Given the description of an element on the screen output the (x, y) to click on. 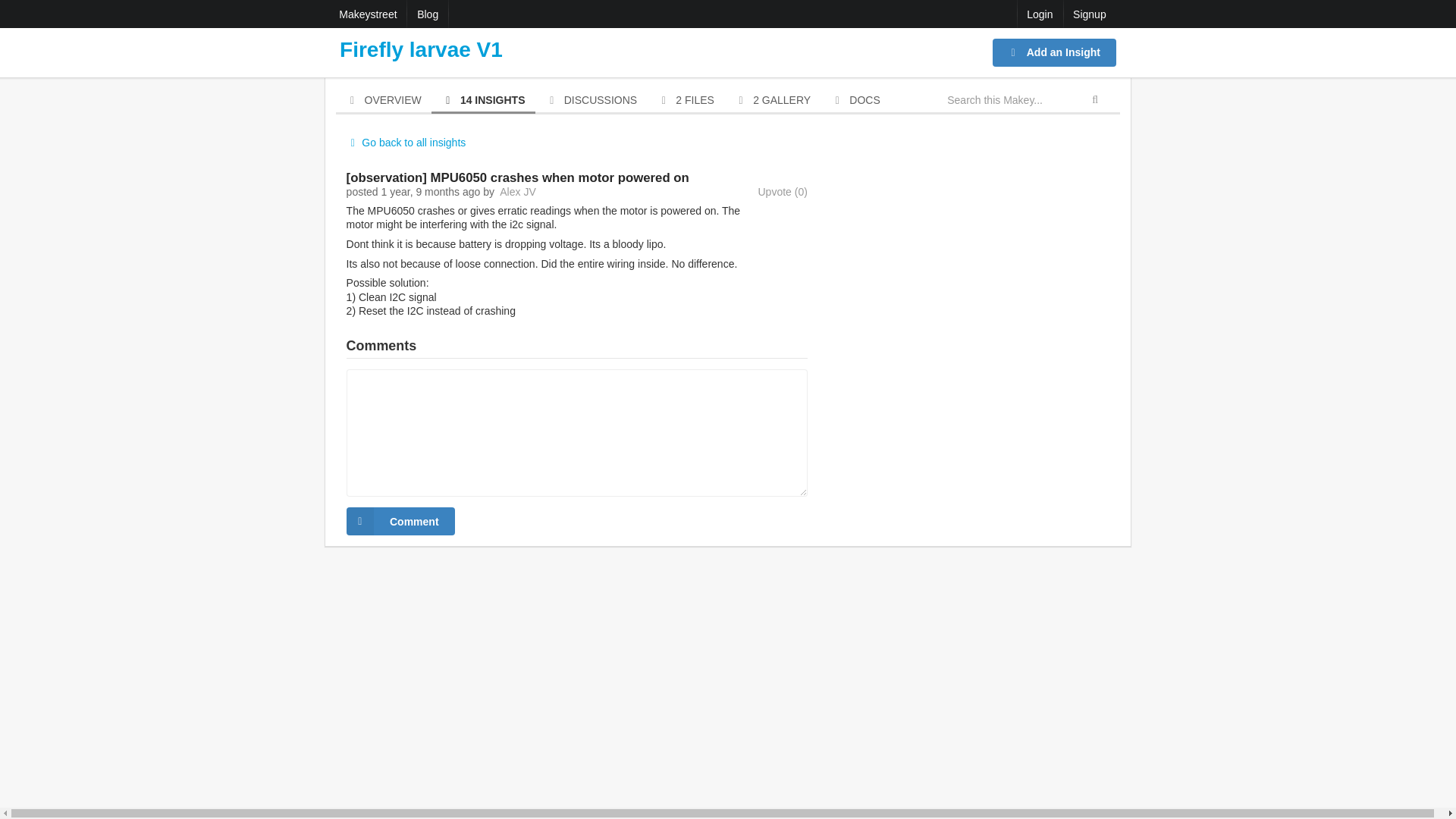
Go back to all insights (405, 142)
Blog (427, 13)
DISCUSSIONS (591, 101)
OVERVIEW (383, 101)
DOCS (855, 101)
Alex JV (517, 191)
Firefly larvae V1 (420, 49)
2 GALLERY (772, 101)
2 FILES (684, 101)
Signup (1089, 13)
